Given the description of an element on the screen output the (x, y) to click on. 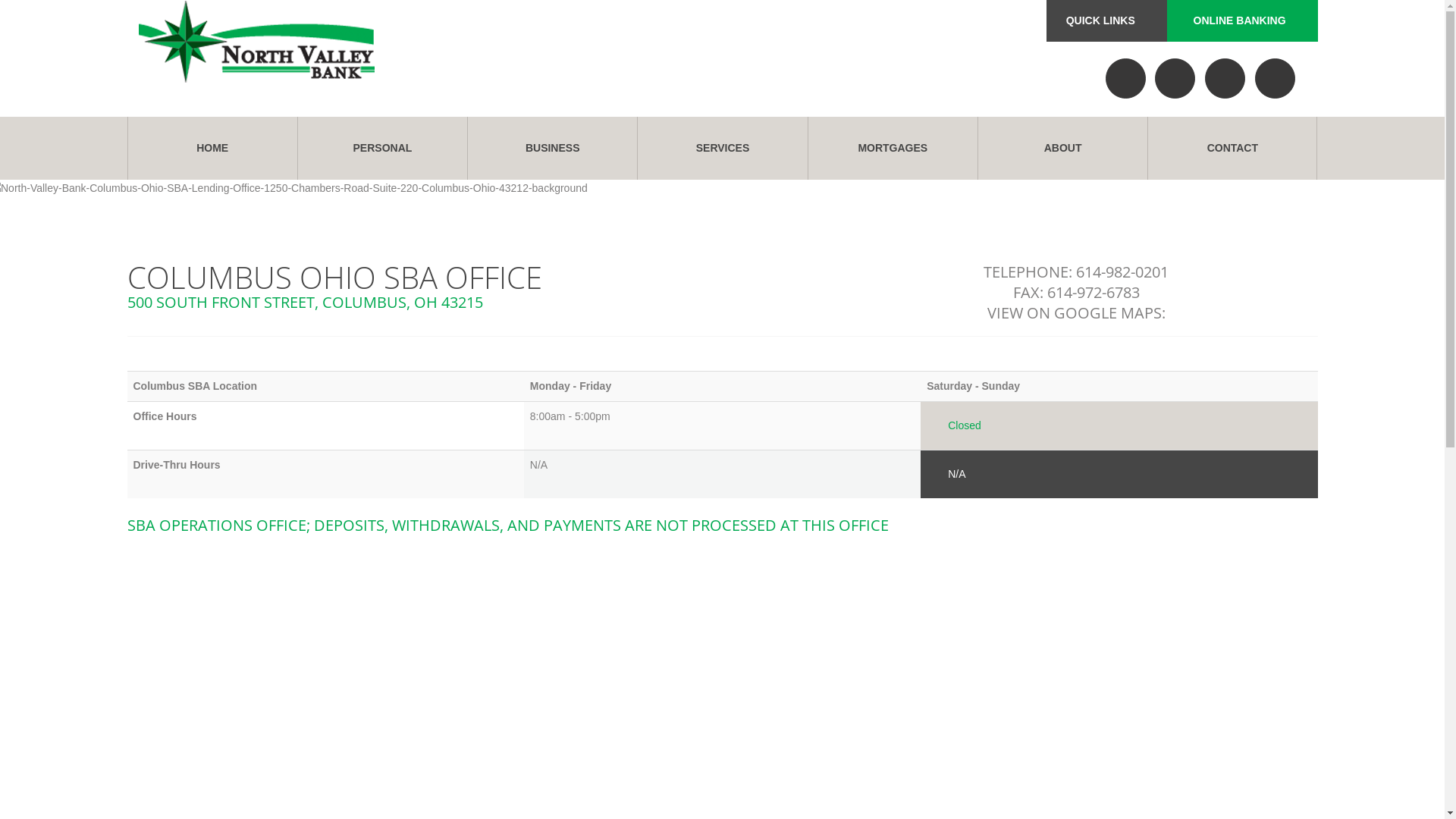
614-982-0201 Element type: text (1122, 271)
ONLINE BANKING Element type: text (1241, 20)
ABOUT Element type: text (1062, 147)
HOME Element type: text (212, 147)
CONTACT Element type: text (1232, 147)
BUSINESS Element type: text (552, 147)
MORTGAGES Element type: text (892, 147)
SERVICES Element type: text (721, 147)
PERSONAL Element type: text (382, 147)
QUICK LINKS Element type: text (1106, 20)
500 SOUTH FRONT STREET, COLUMBUS, OH 43215 Element type: text (305, 301)
